Given the description of an element on the screen output the (x, y) to click on. 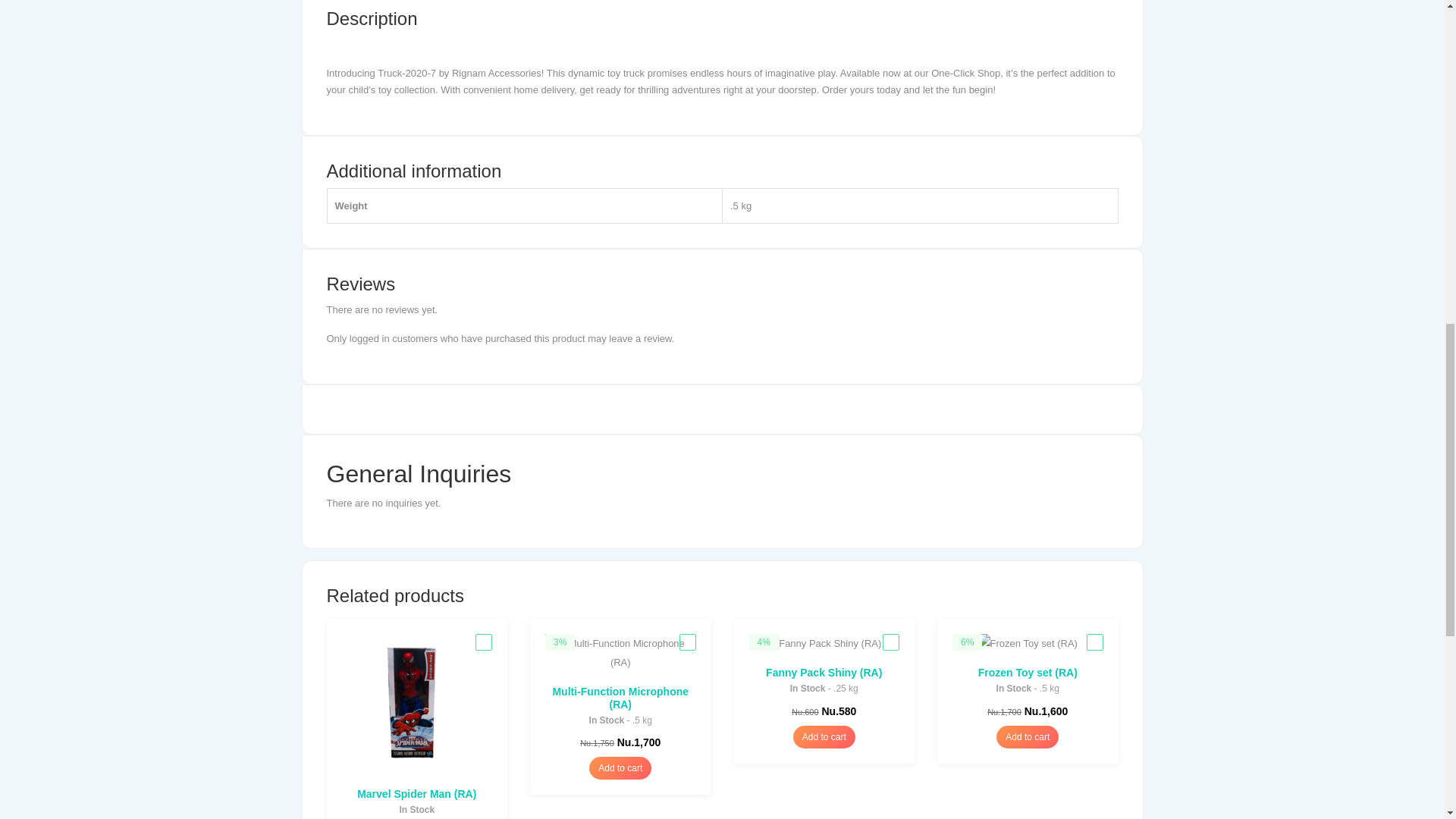
Add to cart (619, 767)
